Given the description of an element on the screen output the (x, y) to click on. 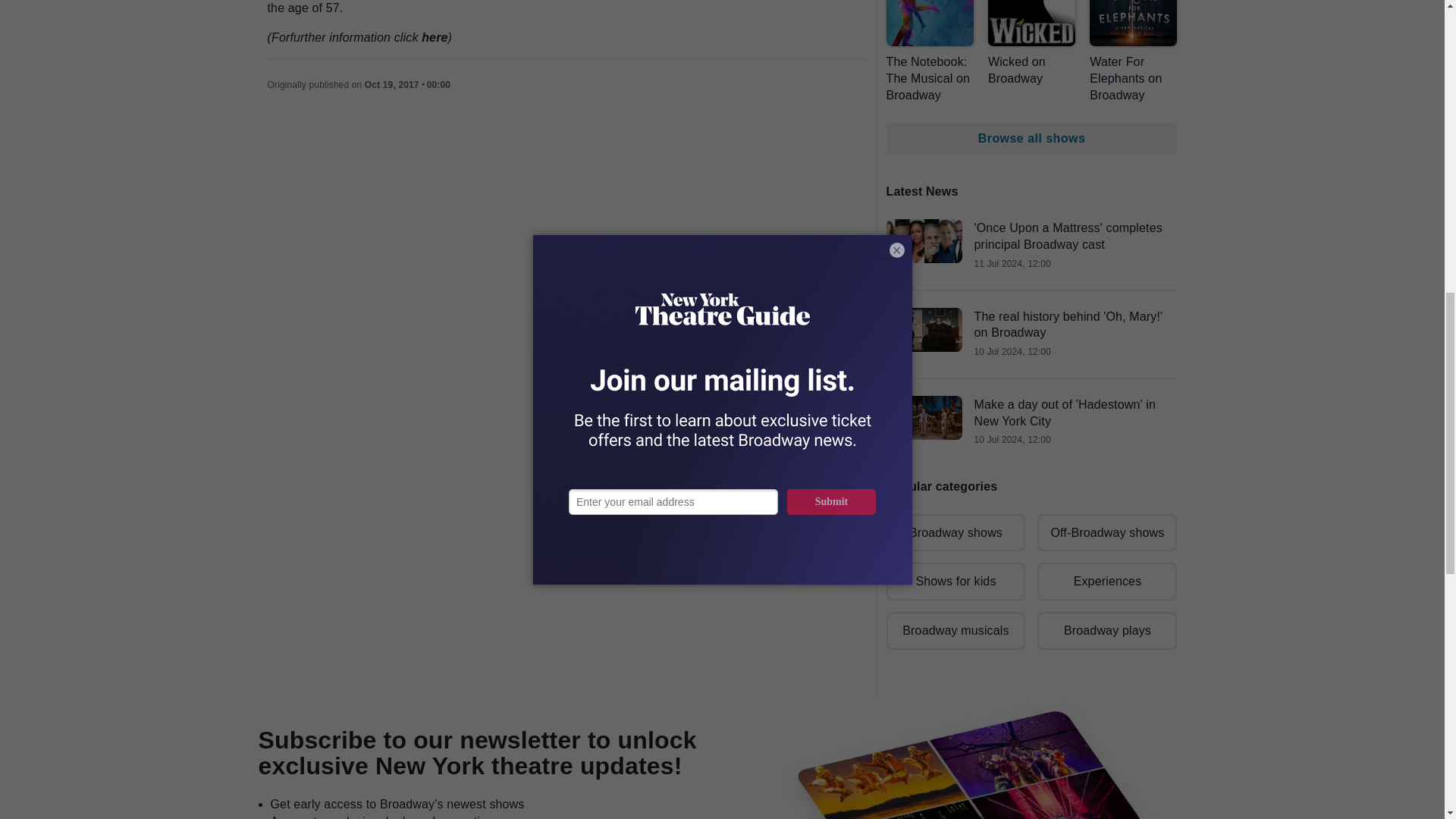
Read more about Wicked on Broadway (1031, 43)
